Given the description of an element on the screen output the (x, y) to click on. 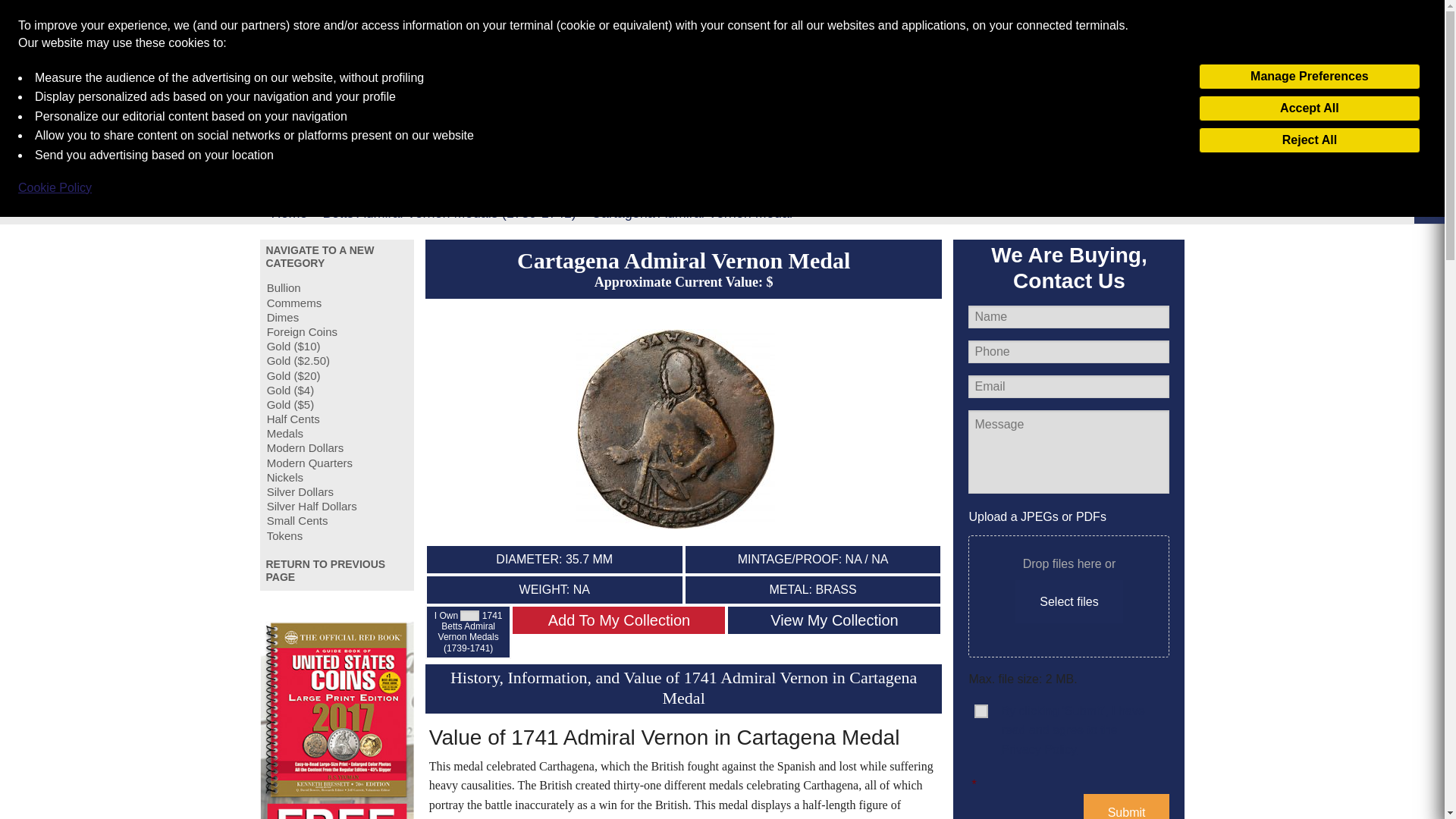
Cookie Policy (54, 187)
HOW TO SELL YOUR COIN FOR TOP DOLLAR (575, 40)
HOW TO AUCTION YOUR COIN FOR TOP DOLLAR (777, 40)
Modern Dollars (336, 447)
ABOUT COINAPPRAISER.COM (1146, 41)
ABOUT (357, 99)
BLOG (629, 99)
Nickels (336, 477)
Search (1144, 98)
GLOSSARY (432, 99)
Dimes (336, 317)
Tokens (336, 535)
Manage Preferences (1309, 76)
Half Cents (336, 418)
Foreign Coins (336, 331)
